Given the description of an element on the screen output the (x, y) to click on. 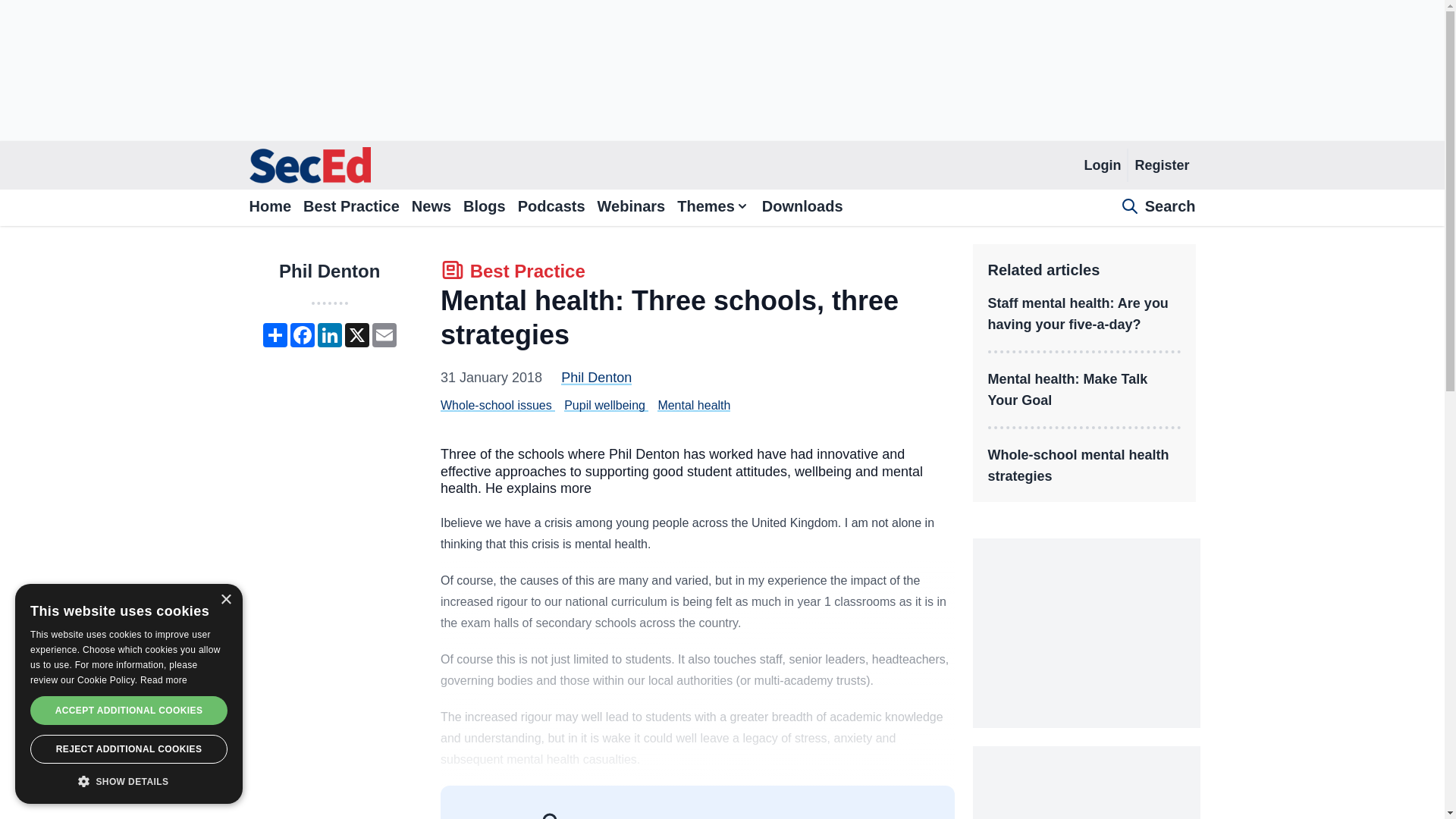
3rd party ad content (1085, 633)
Best Practice (513, 273)
Search (1158, 207)
News (431, 207)
3rd party ad content (721, 70)
Themes (713, 207)
Register (1160, 164)
Webinars (630, 207)
Whole-school issues (496, 404)
Blogs (484, 207)
Downloads (802, 207)
Phil Denton (595, 377)
Best Practice (350, 207)
Login (1101, 164)
Podcasts (551, 207)
